Given the description of an element on the screen output the (x, y) to click on. 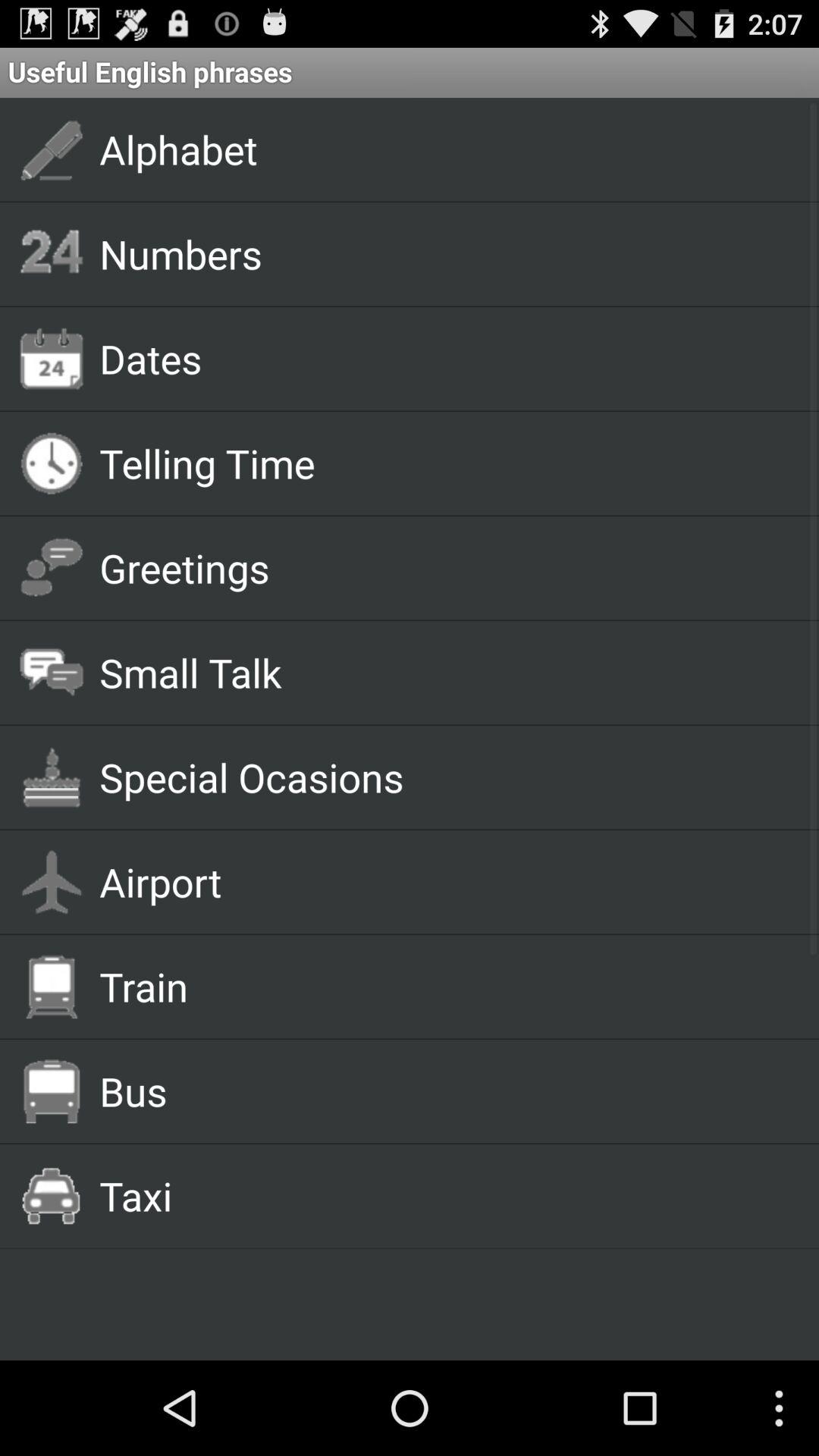
open greetings icon (441, 567)
